Given the description of an element on the screen output the (x, y) to click on. 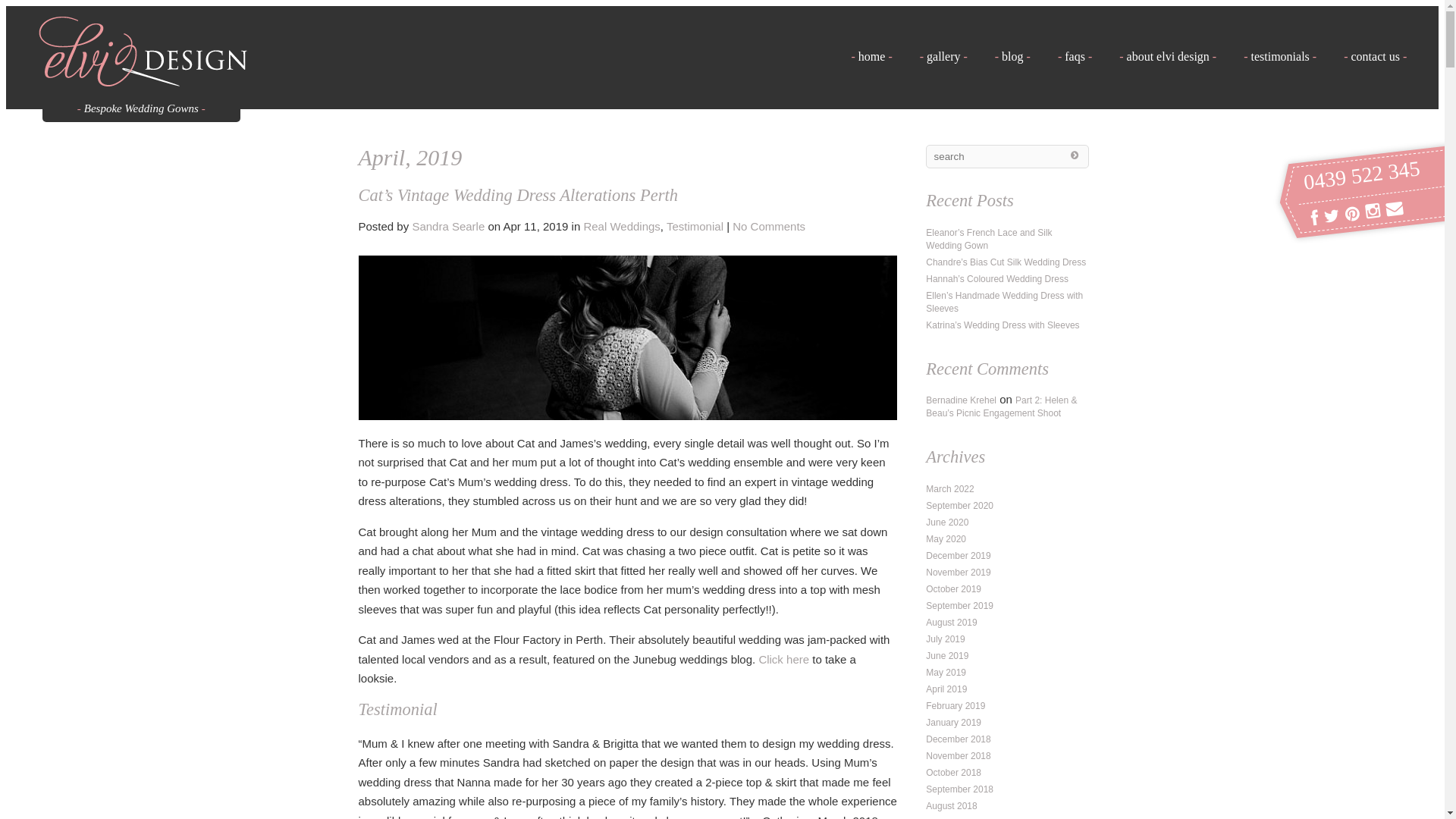
September 2019 Element type: text (959, 605)
Sandra Searle Element type: text (447, 225)
about elvi design Element type: text (1167, 56)
blog Element type: text (1012, 56)
September 2018 Element type: text (959, 789)
August 2019 Element type: text (950, 622)
Real Weddings Element type: text (621, 225)
May 2020 Element type: text (945, 538)
faqs Element type: text (1074, 56)
home Element type: text (870, 56)
January 2019 Element type: text (953, 722)
contact us Element type: text (1374, 56)
No Comments Element type: text (768, 225)
Testimonial Element type: text (694, 225)
December 2019 Element type: text (957, 555)
October 2019 Element type: text (953, 588)
September 2020 Element type: text (959, 505)
Click here Element type: text (783, 658)
October 2018 Element type: text (953, 772)
July 2019 Element type: text (944, 638)
May 2019 Element type: text (945, 672)
August 2018 Element type: text (950, 805)
March 2022 Element type: text (949, 488)
testimonials Element type: text (1279, 56)
November 2019 Element type: text (957, 572)
June 2019 Element type: text (946, 655)
Bernadine Krehel Element type: text (960, 400)
December 2018 Element type: text (957, 739)
gallery Element type: text (943, 56)
April 2019 Element type: text (945, 689)
June 2020 Element type: text (946, 522)
November 2018 Element type: text (957, 755)
February 2019 Element type: text (955, 705)
